Given the description of an element on the screen output the (x, y) to click on. 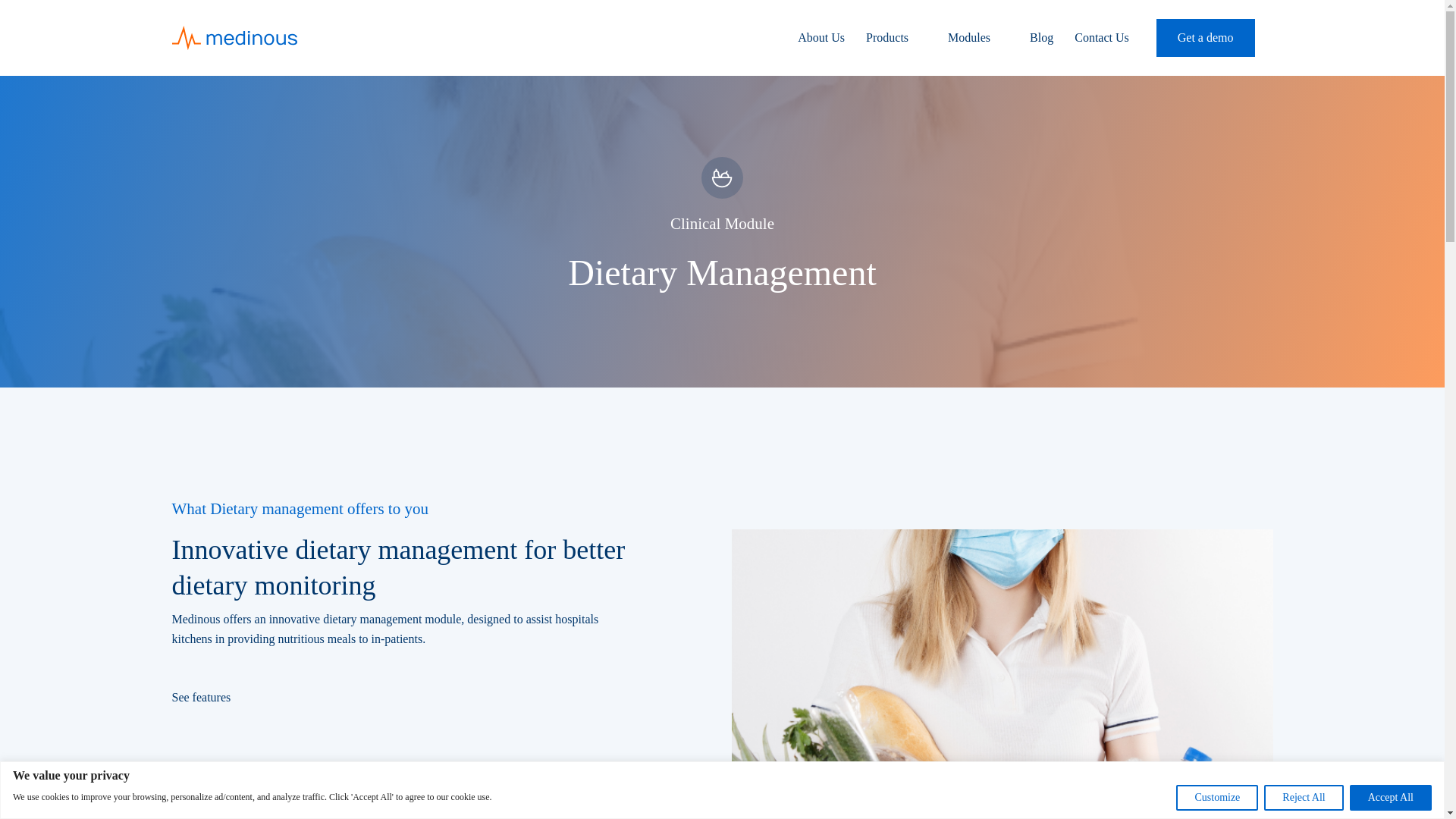
Customize (1216, 797)
About Us (821, 38)
Accept All (1390, 797)
Reject All (1302, 797)
